Given the description of an element on the screen output the (x, y) to click on. 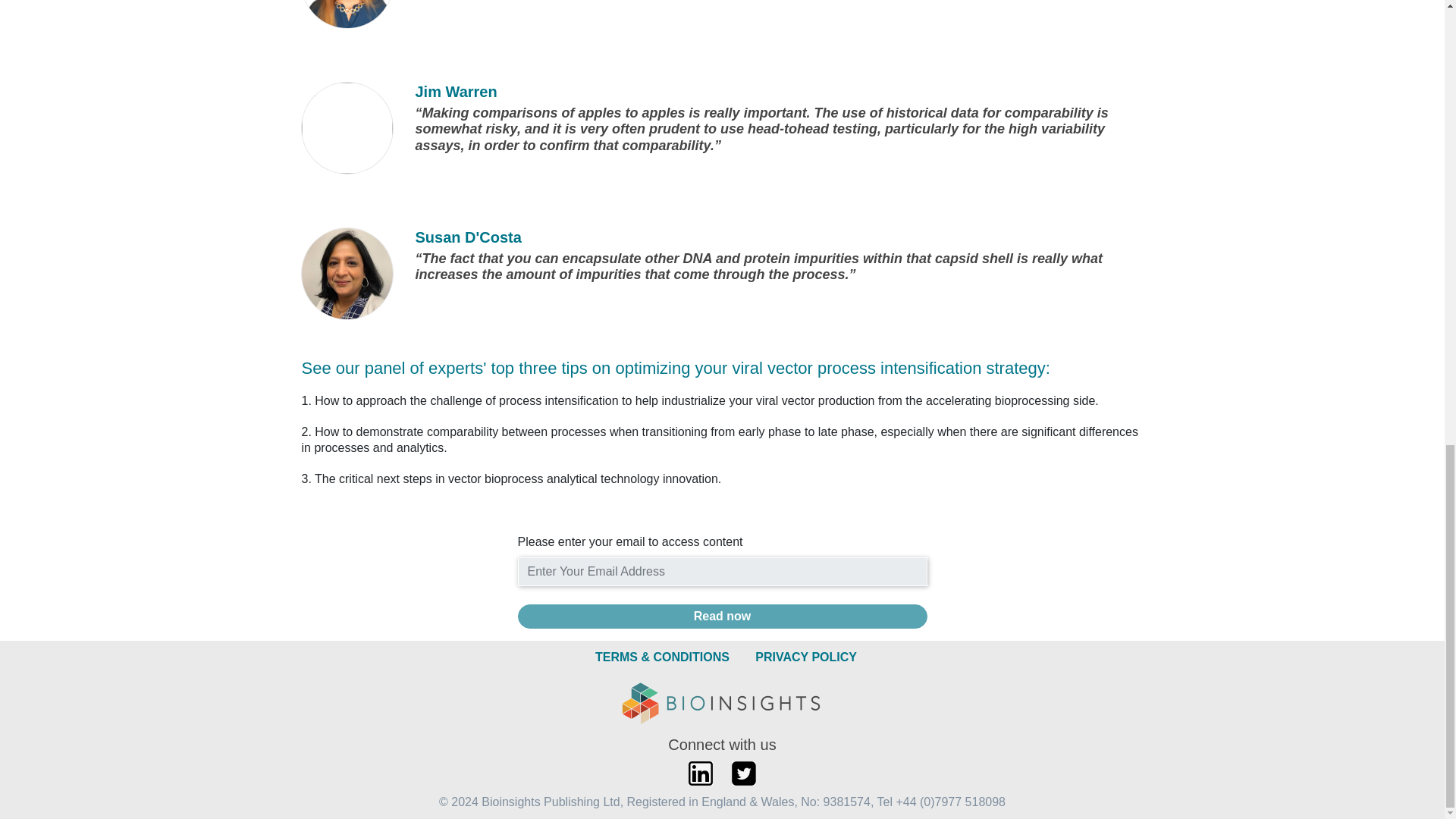
Find us on Twitter (743, 773)
Read now (721, 616)
Connect with us on LinkedIn (700, 773)
BioInsights Publishing (722, 703)
